Given the description of an element on the screen output the (x, y) to click on. 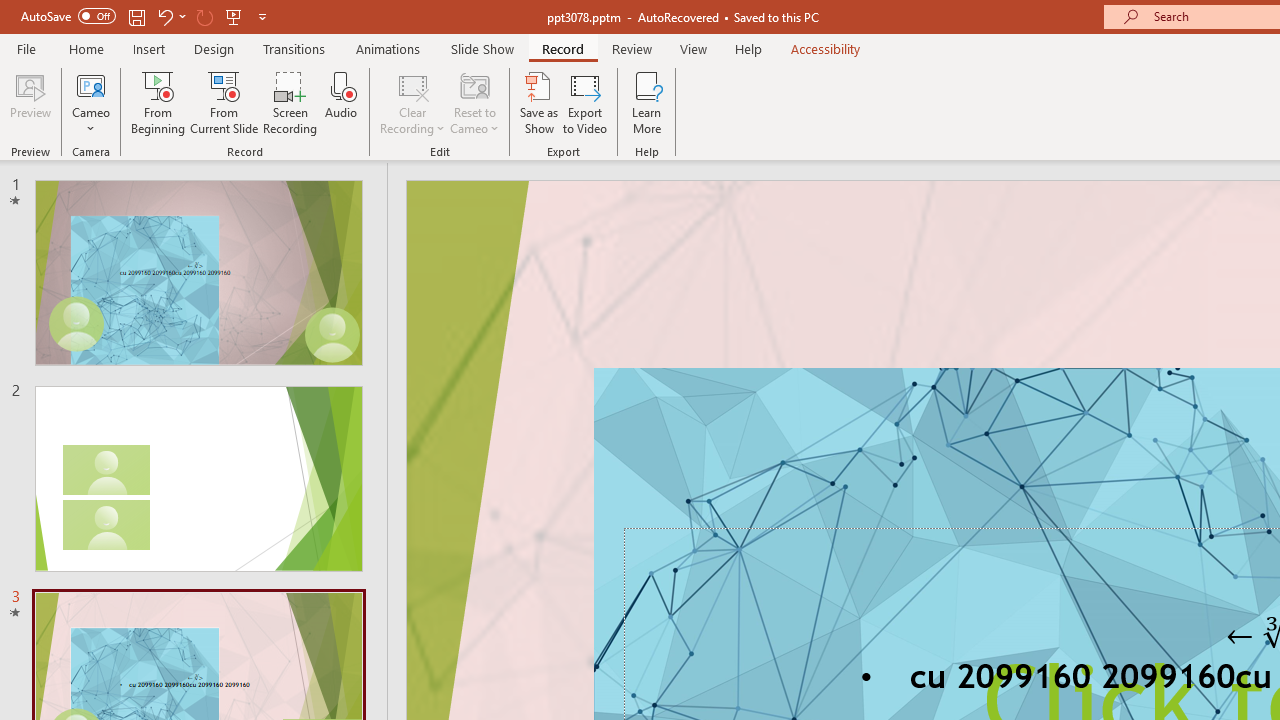
From Beginning... (158, 102)
Save as Show (539, 102)
Audio (341, 102)
Preview (30, 102)
Clear Recording (412, 102)
